Given the description of an element on the screen output the (x, y) to click on. 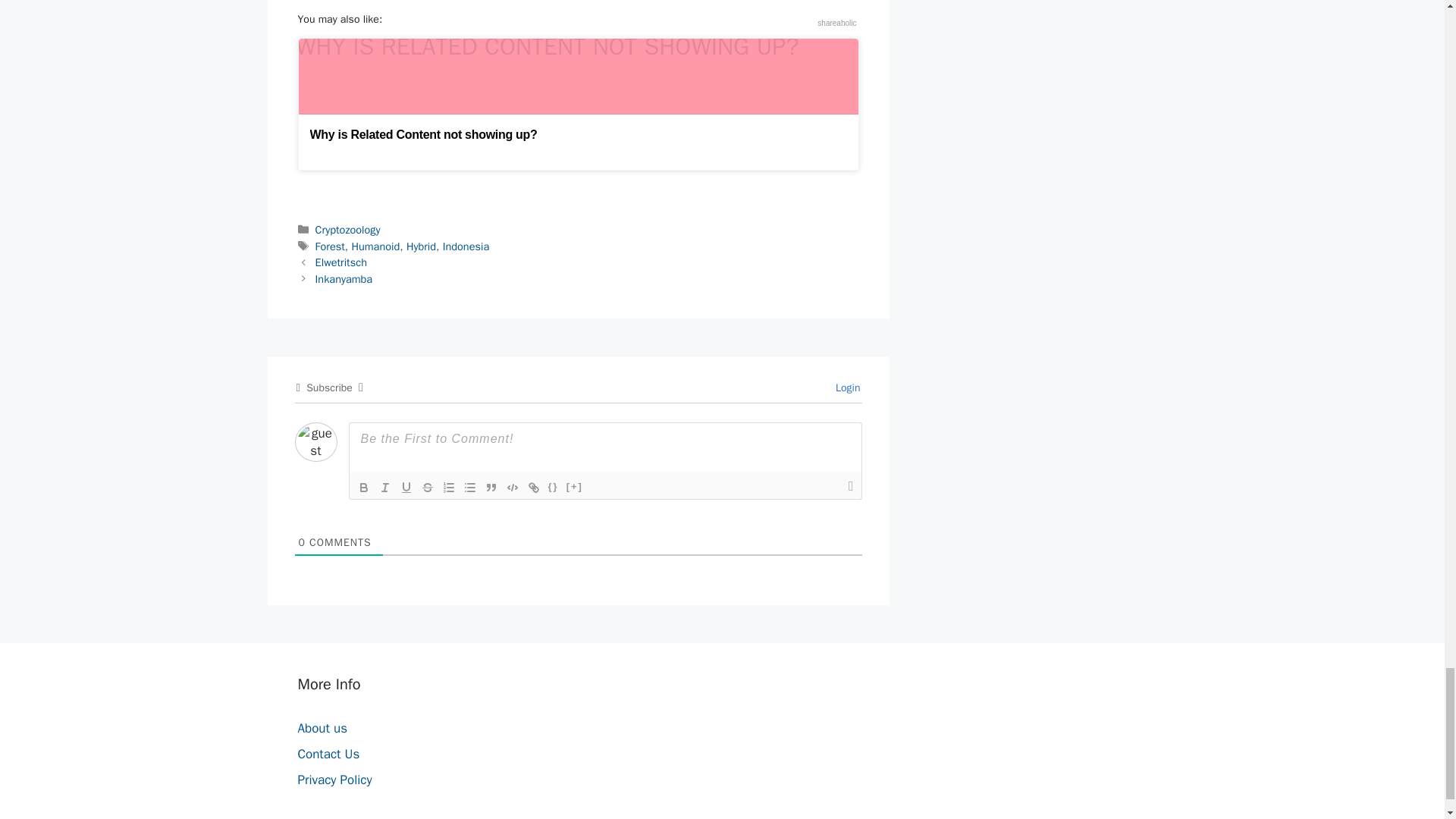
Website Tools by Shareaholic (836, 22)
Inkanyamba (343, 278)
Underline (406, 487)
ordered (449, 487)
bullet (470, 487)
Indonesia (465, 246)
Blockquote (491, 487)
Why is Related Content not showing up? (578, 103)
Elwetritsch (340, 262)
Bold (363, 487)
Link (533, 487)
Ordered List (449, 487)
Italic (385, 487)
Login (845, 387)
Hybrid (420, 246)
